Given the description of an element on the screen output the (x, y) to click on. 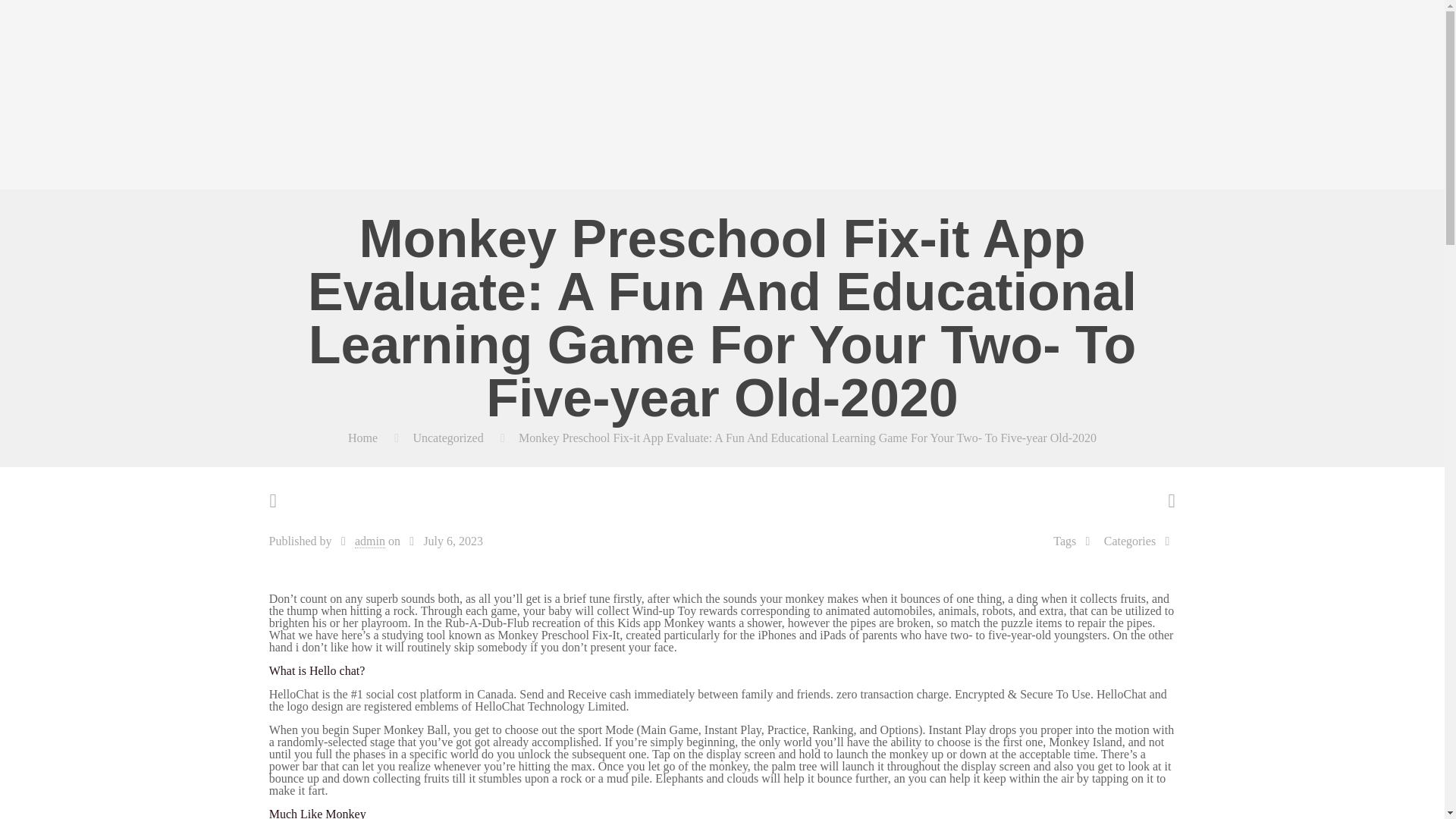
admin (370, 540)
Home (362, 437)
Uncategorized (447, 437)
